Given the description of an element on the screen output the (x, y) to click on. 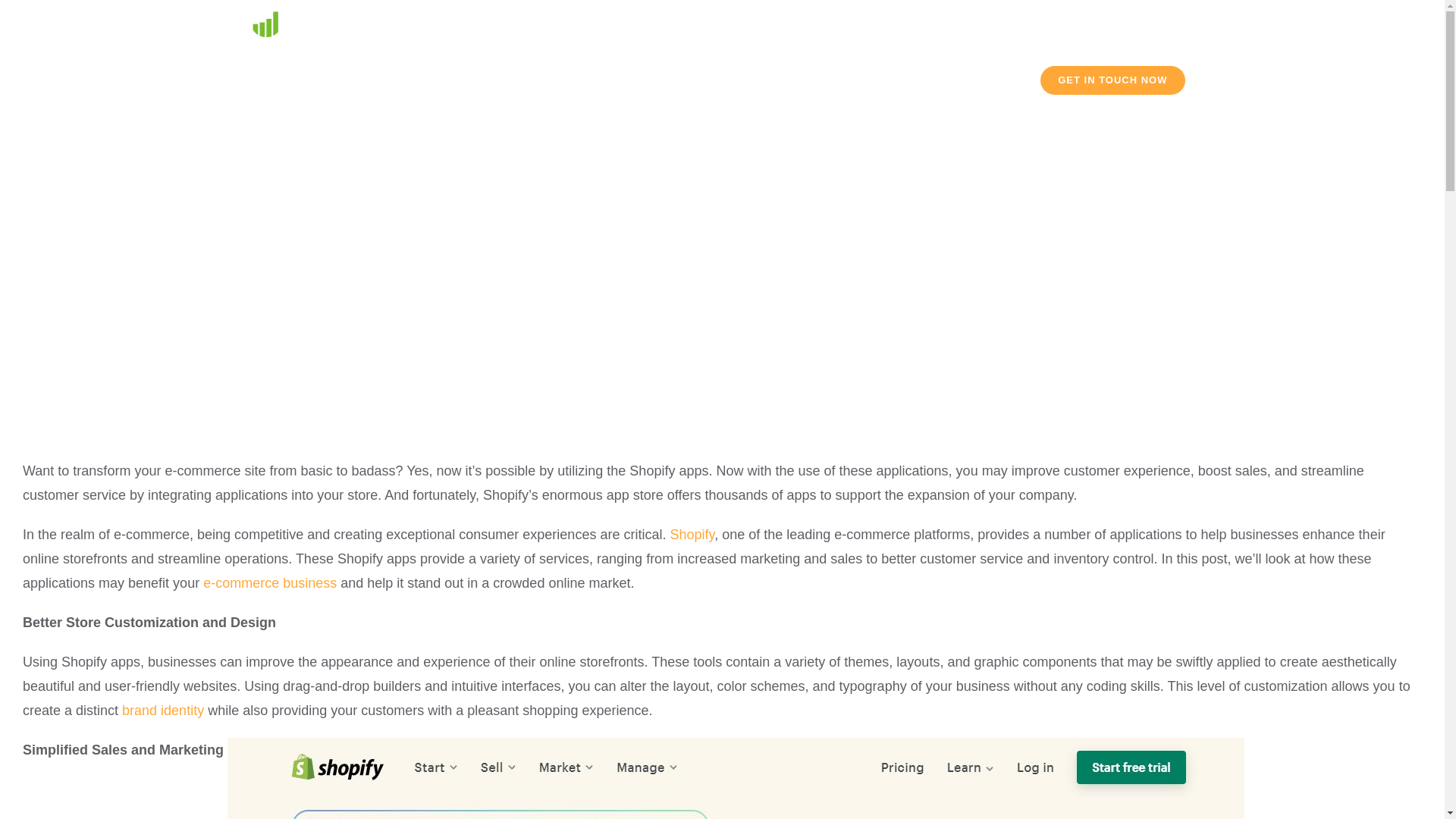
GET IN TOUCH NOW (1112, 79)
TikTok Ads (871, 79)
brand identity (162, 710)
Shopify (691, 534)
Paid Marketing (766, 79)
Who We Are (970, 79)
e-commerce business (269, 582)
Content Writing (647, 79)
